Given the description of an element on the screen output the (x, y) to click on. 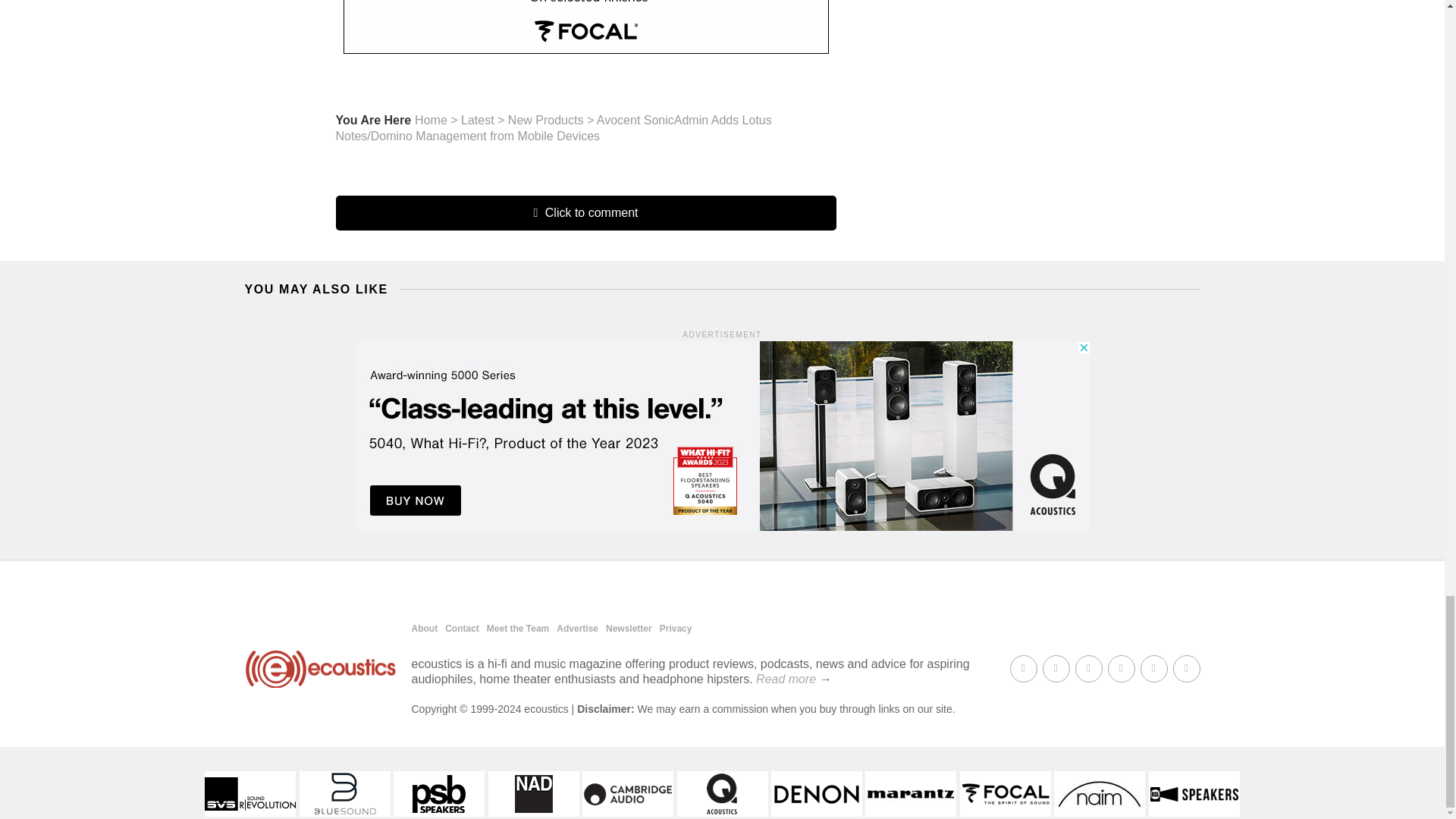
3rd party ad content (585, 27)
